Given the description of an element on the screen output the (x, y) to click on. 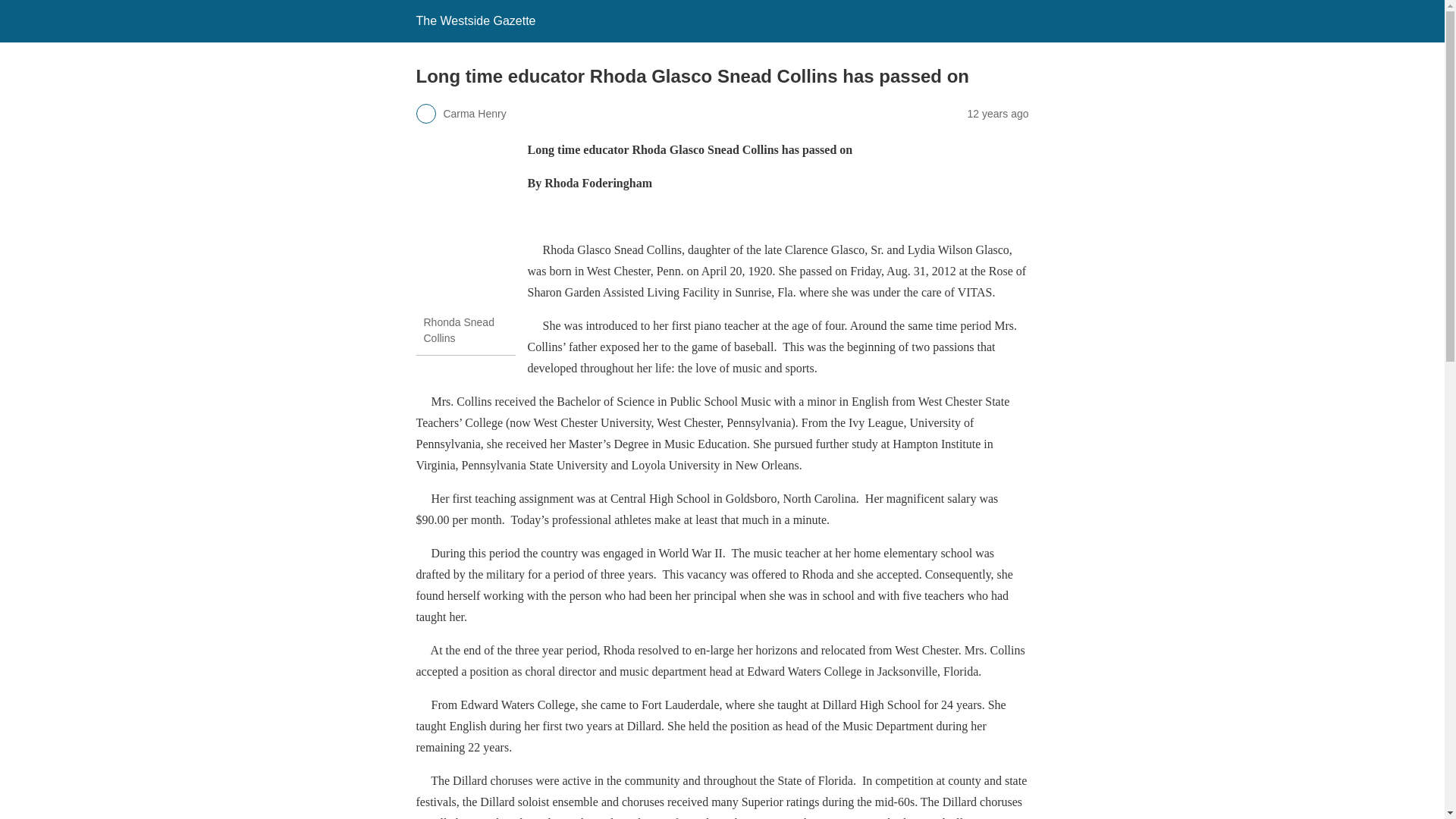
The Westside Gazette (474, 20)
